Given the description of an element on the screen output the (x, y) to click on. 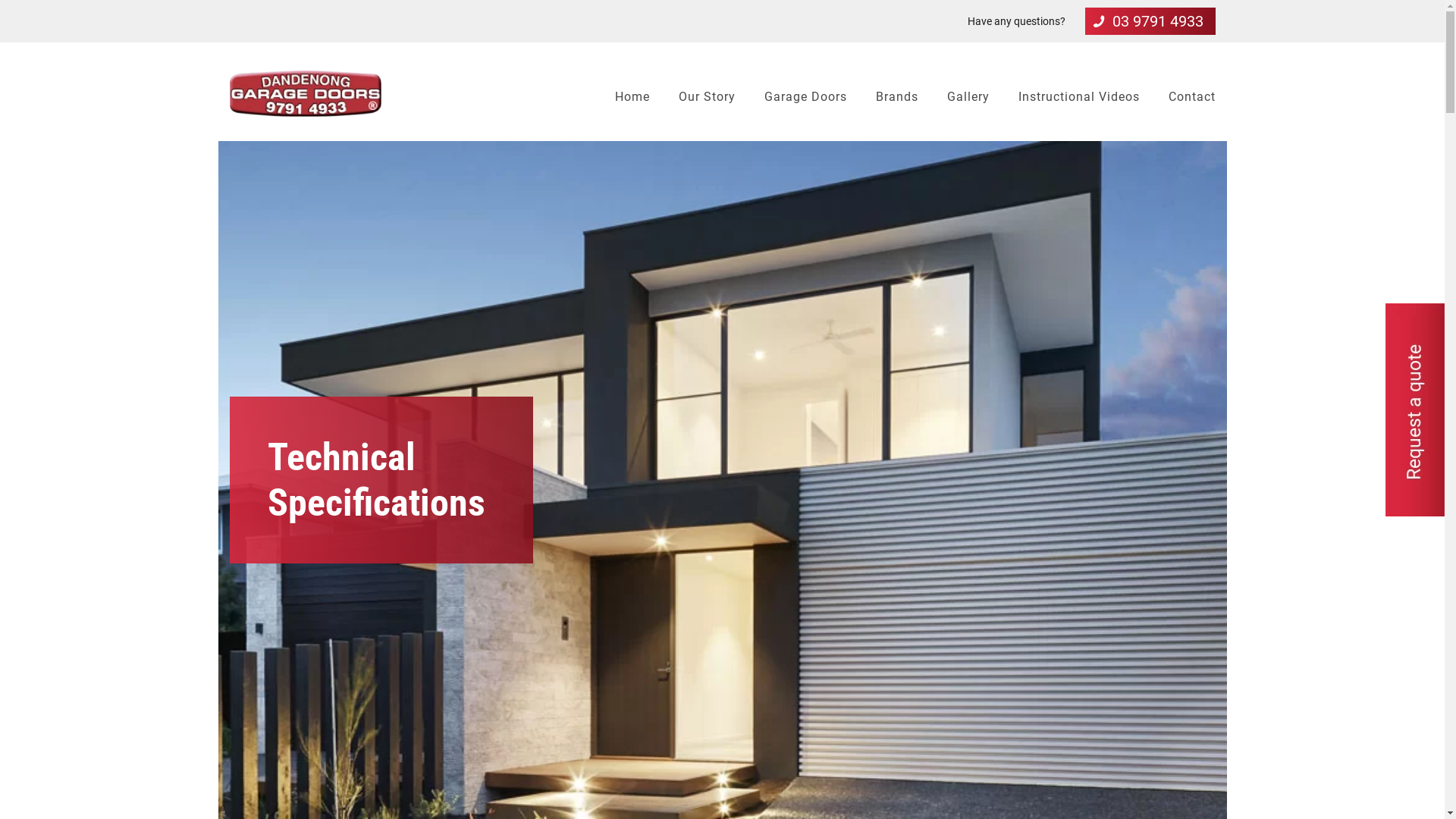
Brands Element type: text (896, 97)
Instructional Videos Element type: text (1078, 97)
03 9791 4933 Element type: text (1149, 20)
Gallery Element type: text (967, 97)
Skip to primary navigation Element type: text (0, 42)
Our Story Element type: text (705, 97)
Dandenong Garage Doors Element type: text (304, 93)
Garage Doors Element type: text (805, 97)
Contact Element type: text (1190, 97)
Home Element type: text (631, 97)
